Given the description of an element on the screen output the (x, y) to click on. 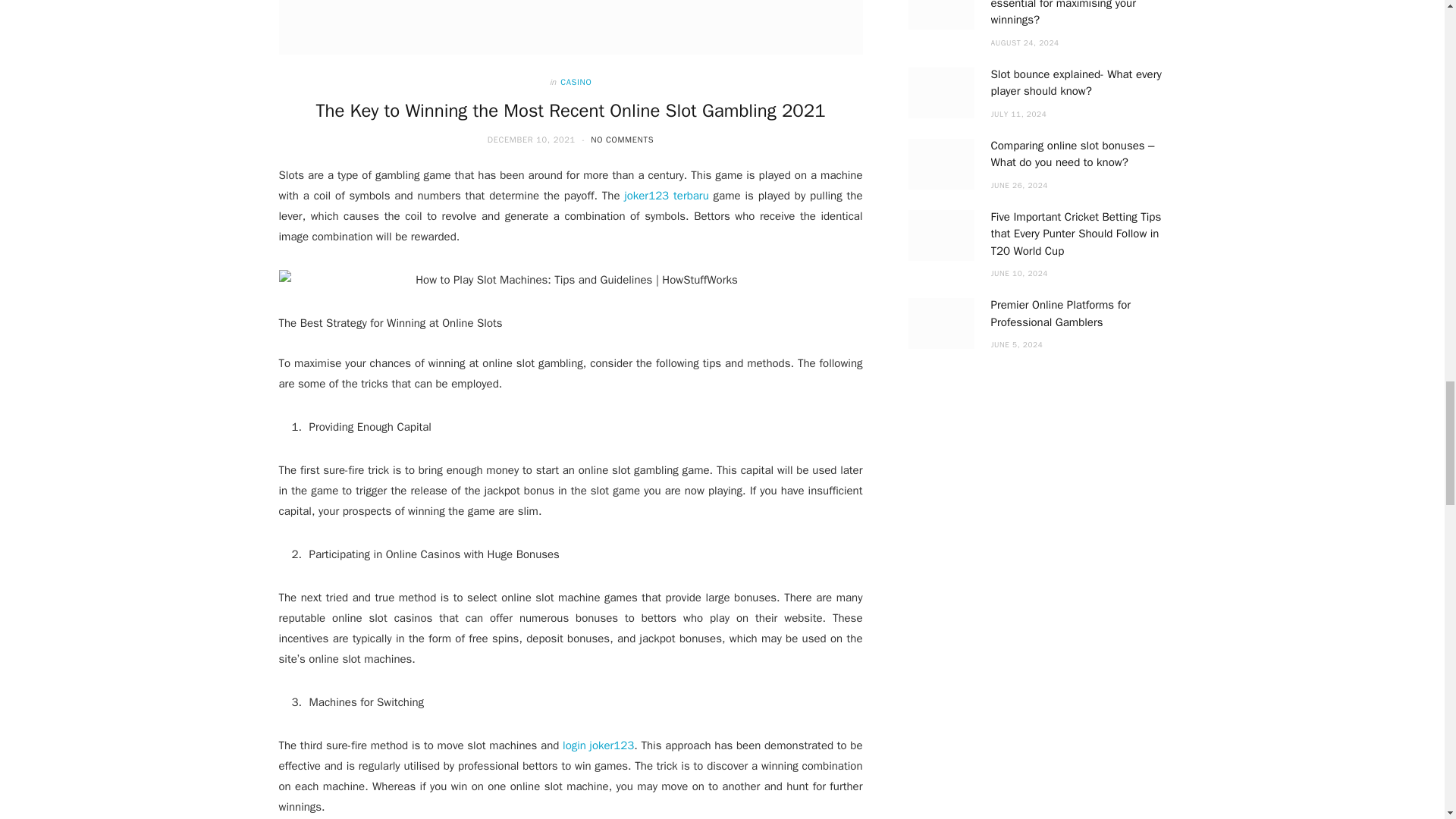
joker123 terbaru (665, 195)
CASINO (575, 82)
NO COMMENTS (622, 139)
DECEMBER 10, 2021 (532, 139)
The Key to Winning the Most Recent Online Slot Gambling 2021 (571, 27)
login joker123 (597, 745)
The Key to Winning the Most Recent Online Slot Gambling 2021 (570, 110)
